Given the description of an element on the screen output the (x, y) to click on. 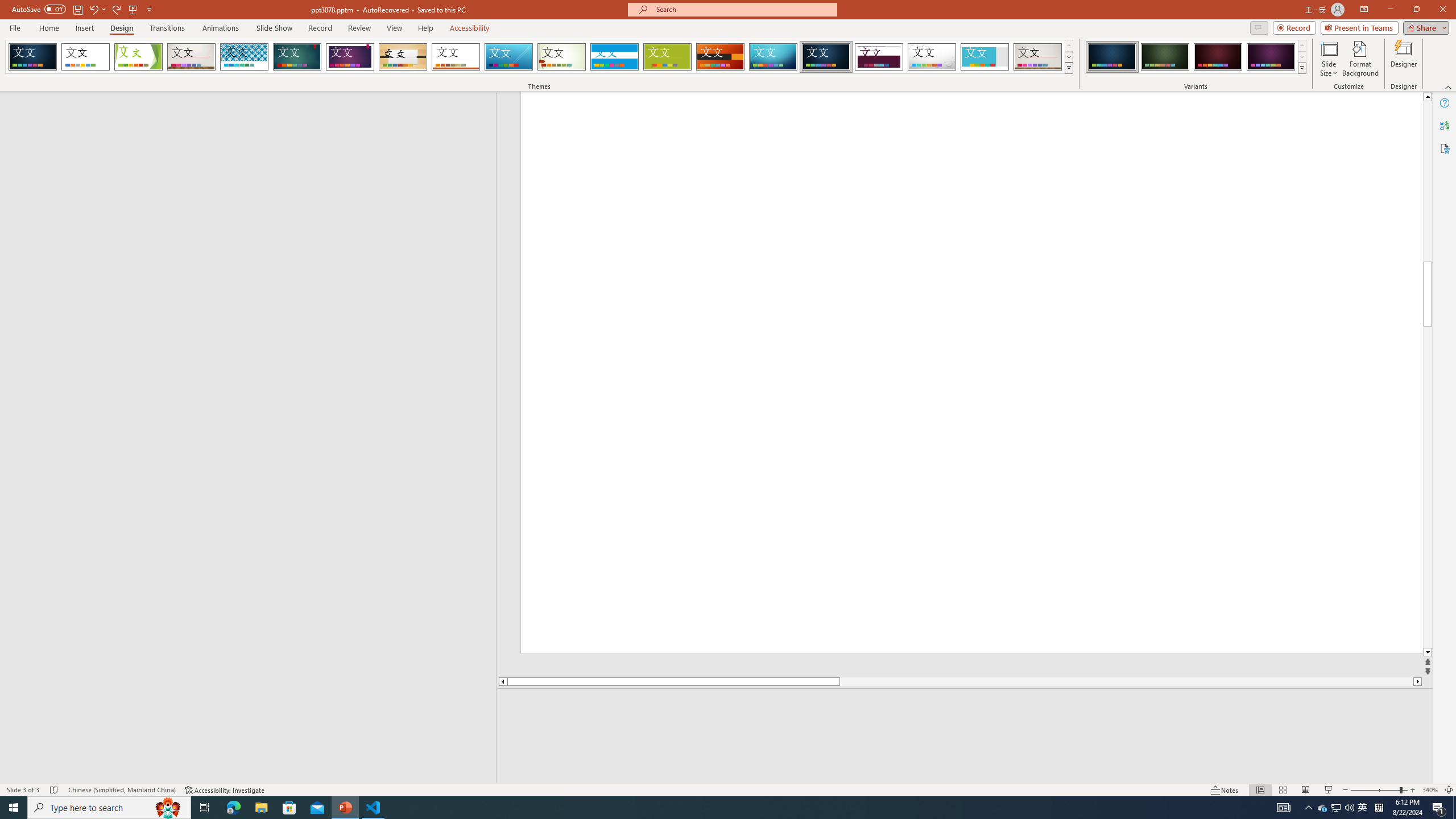
Damask Variant 4 (1270, 56)
Integral (244, 56)
Damask Variant 3 (1217, 56)
Damask (826, 56)
